Given the description of an element on the screen output the (x, y) to click on. 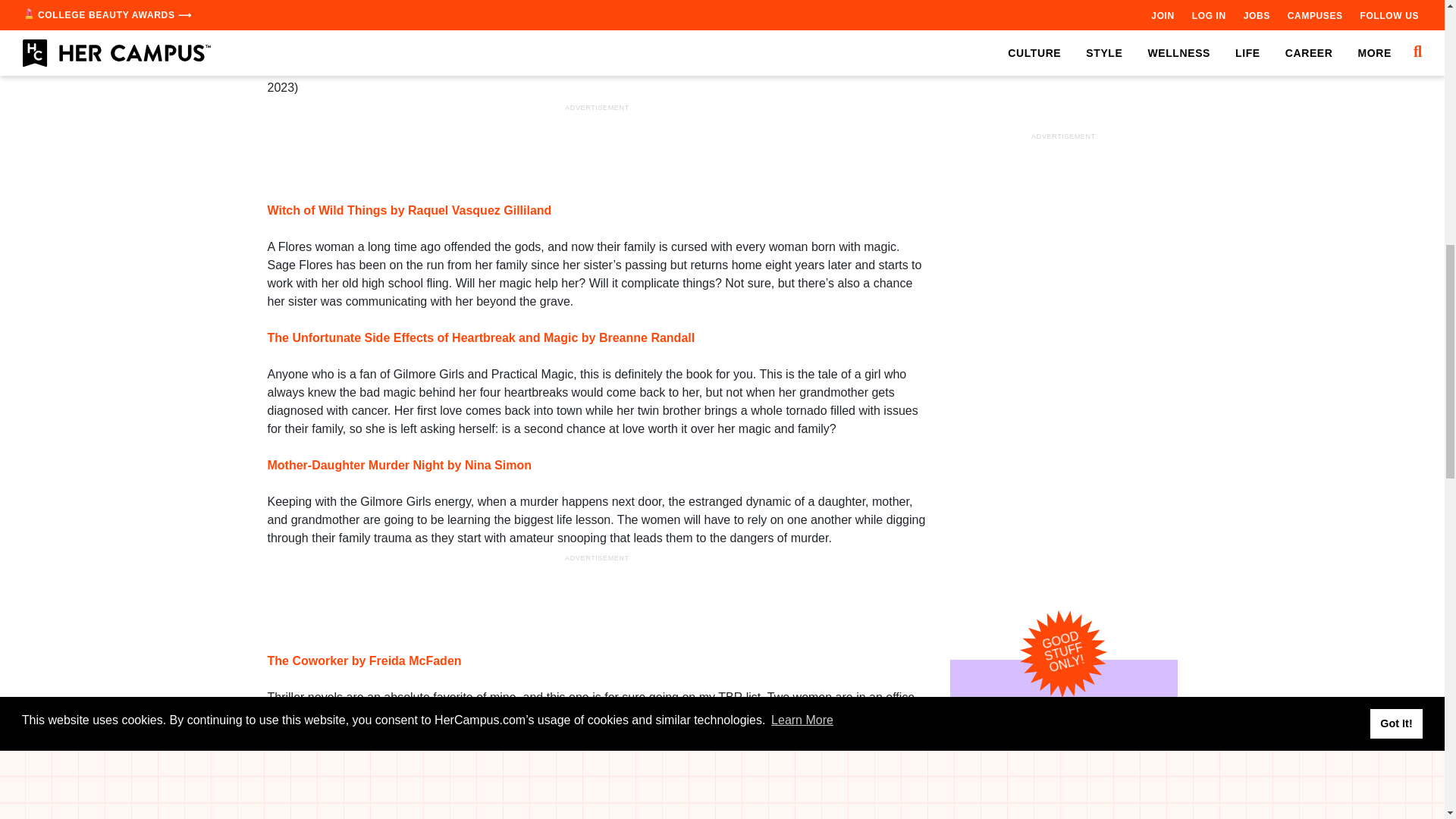
3rd party ad content (1062, 105)
3rd party ad content (597, 149)
3rd party ad content (597, 599)
